Given the description of an element on the screen output the (x, y) to click on. 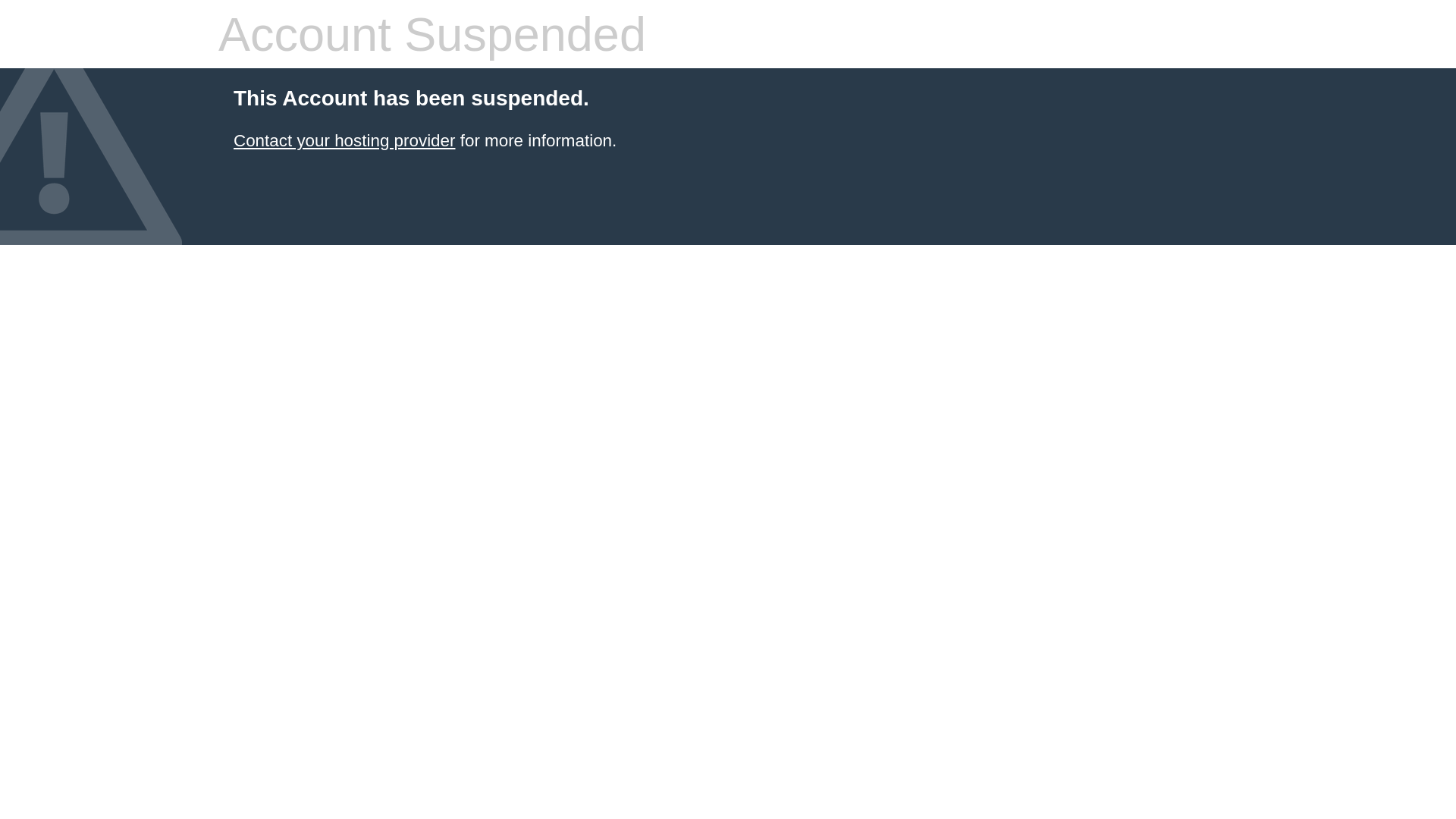
Contact your hosting provider Element type: text (344, 140)
